Given the description of an element on the screen output the (x, y) to click on. 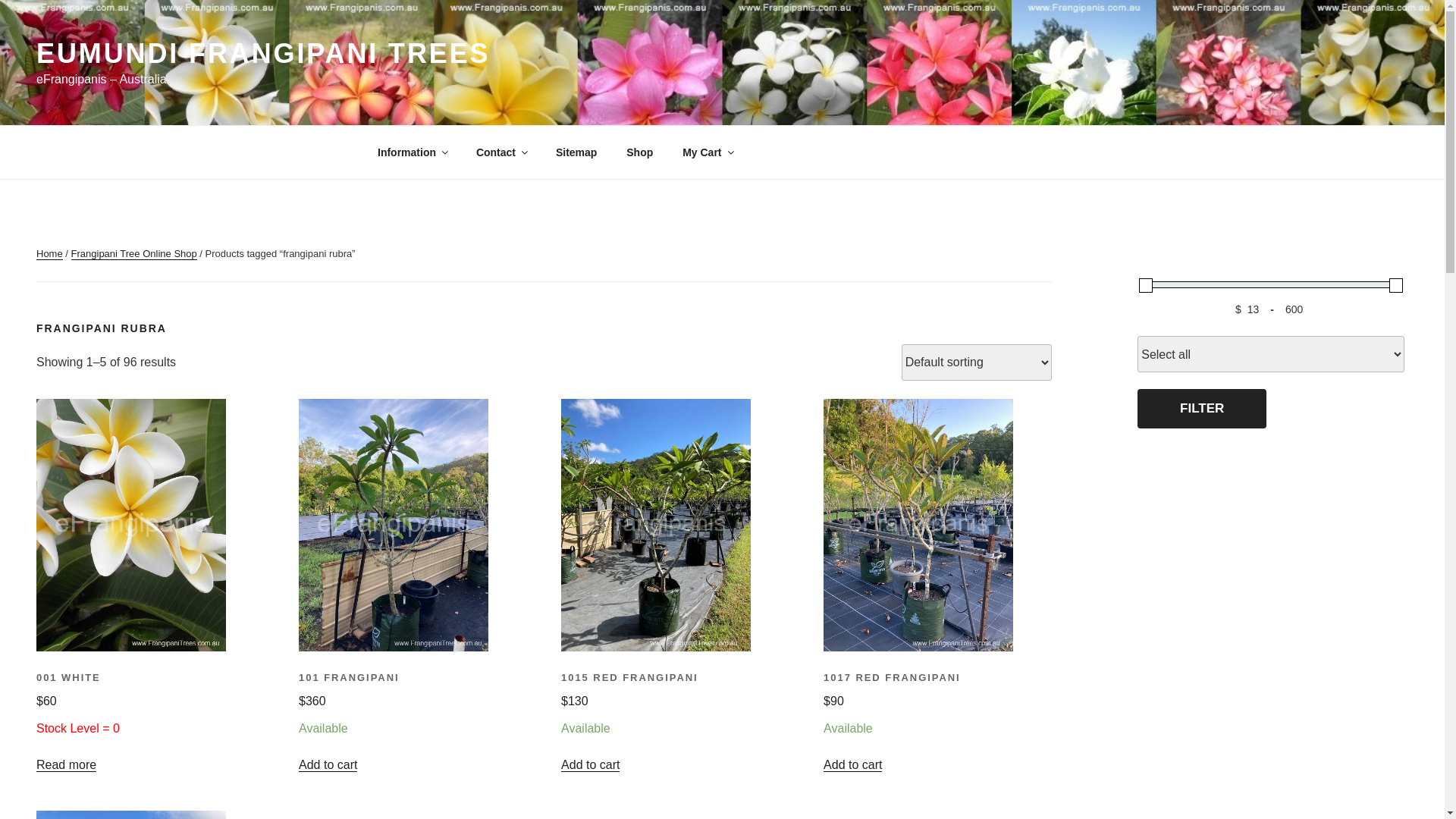
Home Element type: text (49, 253)
My Cart Element type: text (707, 151)
Add to cart Element type: text (590, 764)
Contact Element type: text (500, 151)
001 WHITE
$60
Stock Level = 0 Element type: text (148, 705)
Shop Element type: text (639, 151)
Add to cart Element type: text (852, 764)
Information Element type: text (411, 151)
EUMUNDI FRANGIPANI TREES Element type: text (262, 53)
FILTER Element type: text (1201, 408)
Frangipani Tree Online Shop Element type: text (134, 253)
Sitemap Element type: text (575, 151)
Read more Element type: text (66, 764)
Add to cart Element type: text (327, 764)
1017 RED FRANGIPANI
$90
Available Element type: text (935, 705)
101 FRANGIPANI
$360
Available Element type: text (410, 705)
1015 RED FRANGIPANI
$130
Available Element type: text (672, 705)
